Given the description of an element on the screen output the (x, y) to click on. 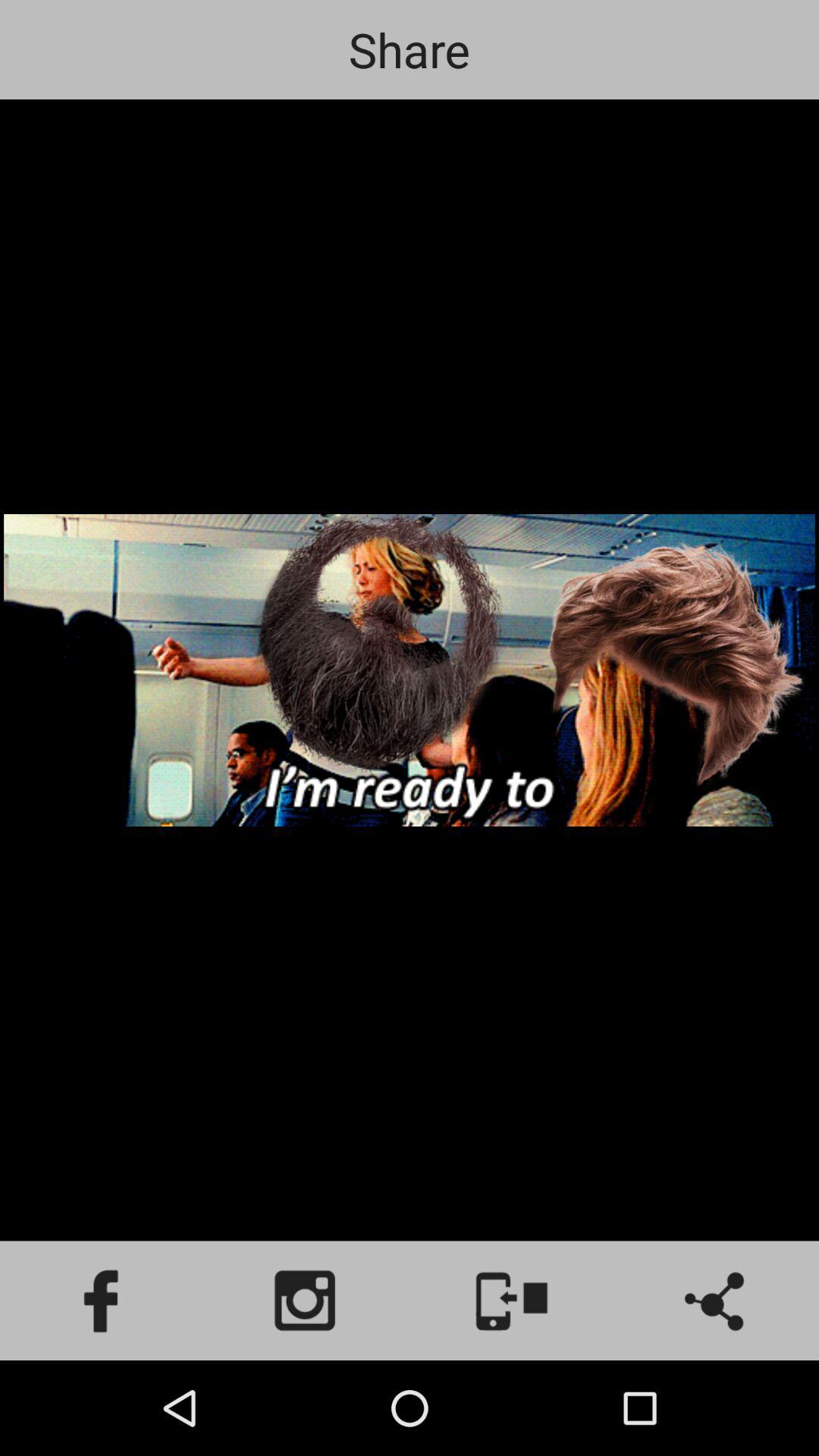
facebook icon (102, 1300)
